Given the description of an element on the screen output the (x, y) to click on. 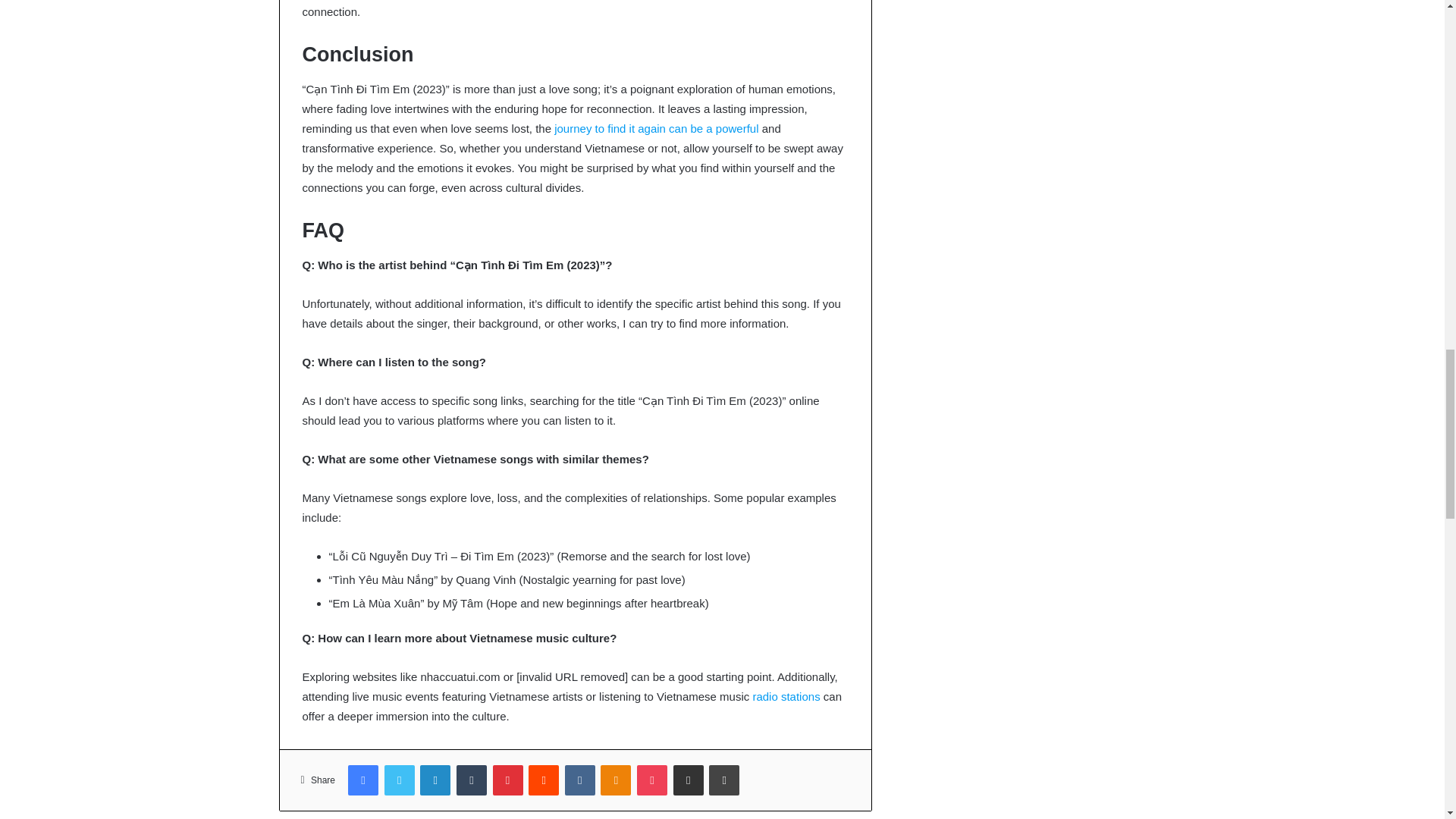
Facebook (362, 779)
journey to find it again can be a powerful (656, 128)
radio stations (785, 696)
Twitter (399, 779)
